Given the description of an element on the screen output the (x, y) to click on. 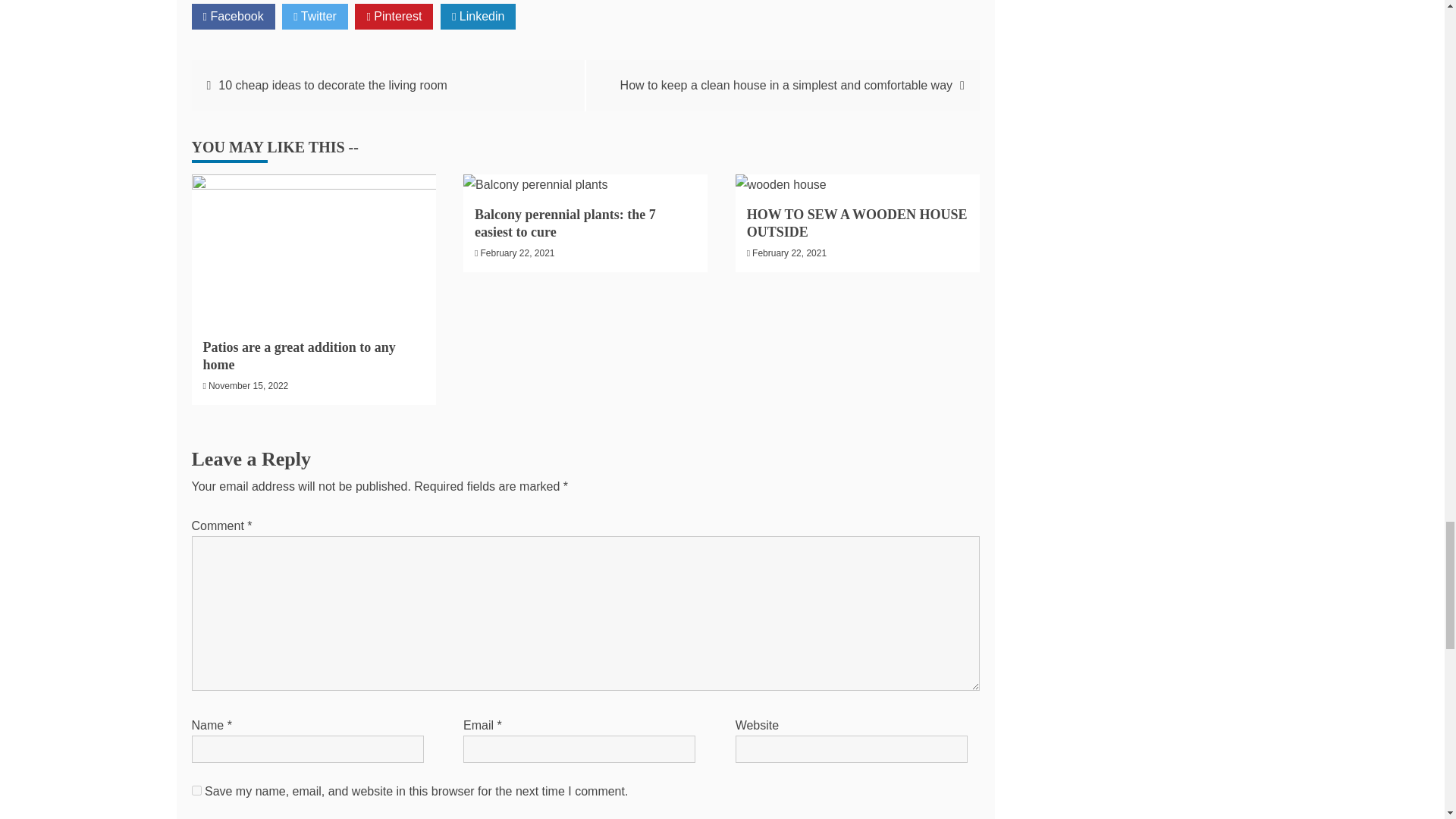
yes (195, 790)
